Given the description of an element on the screen output the (x, y) to click on. 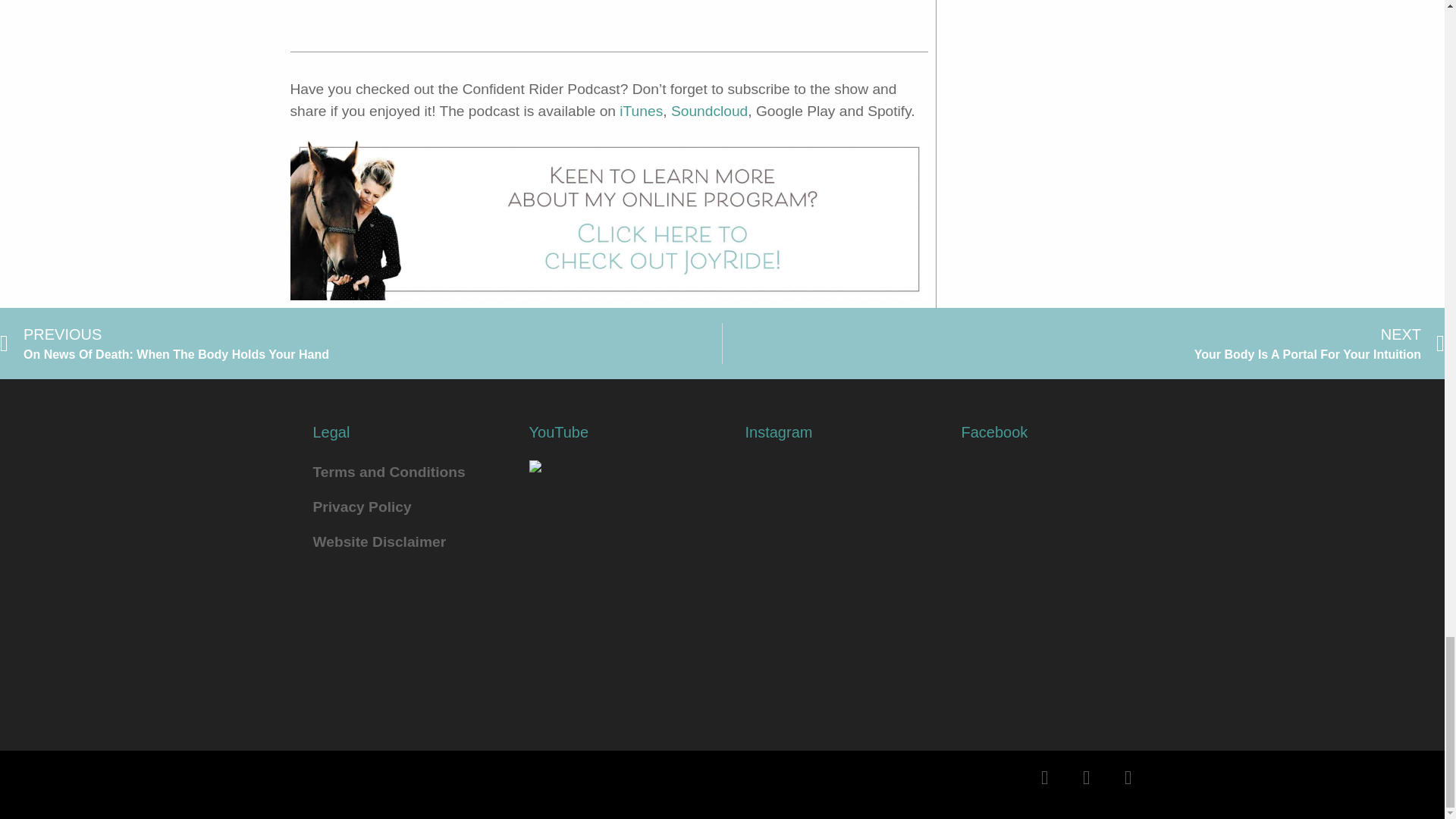
iTunes (641, 110)
Terms and Conditions (398, 472)
Website Disclaimer (398, 541)
Soundcloud (361, 342)
Privacy Policy (709, 110)
